Given the description of an element on the screen output the (x, y) to click on. 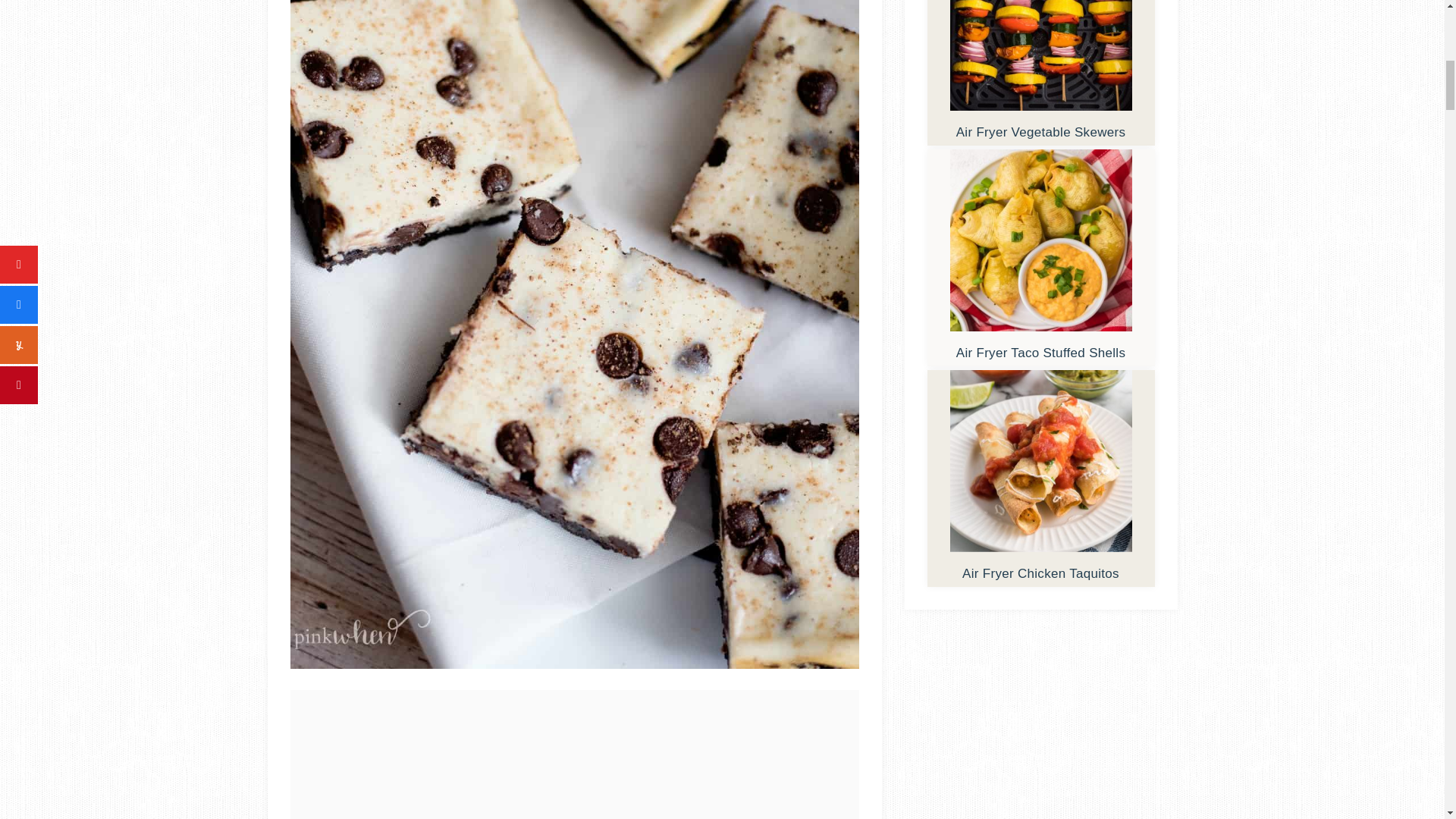
Air Fryer Taco Stuffed Shells 25 (1040, 240)
Air Fryer Chicken Taquitos 26 (1040, 461)
Air Fryer Vegetable Skewers 24 (1040, 55)
